Given the description of an element on the screen output the (x, y) to click on. 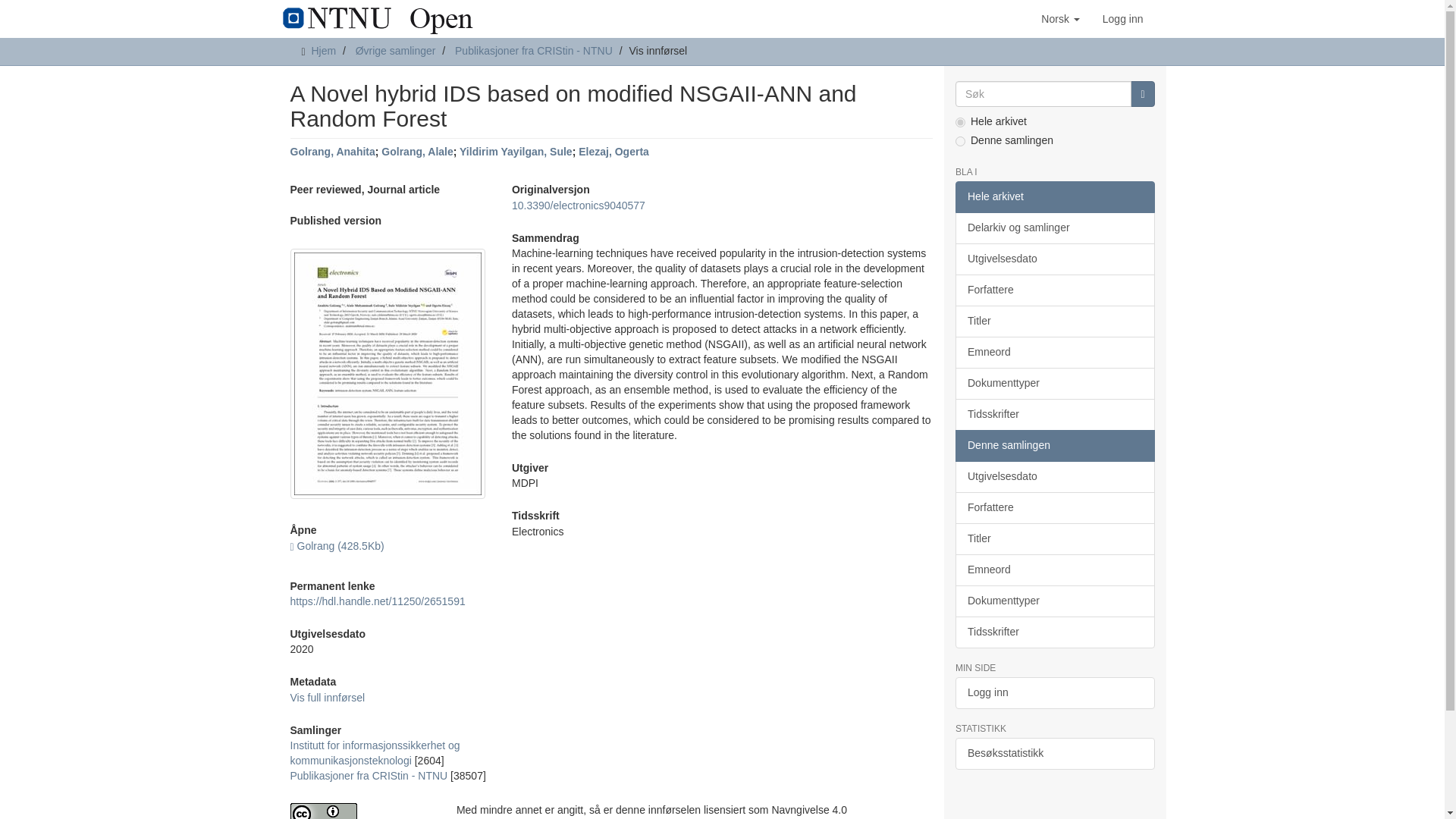
Hele arkivet (1054, 196)
Publikasjoner fra CRIStin - NTNU (533, 50)
Golrang, Alale (416, 151)
Norsk  (1059, 18)
Hjem (323, 50)
Publikasjoner fra CRIStin - NTNU (367, 775)
Yildirim Yayilgan, Sule (516, 151)
Navngivelse 4.0 Internasjonal (360, 811)
Elezaj, Ogerta (613, 151)
